Given the description of an element on the screen output the (x, y) to click on. 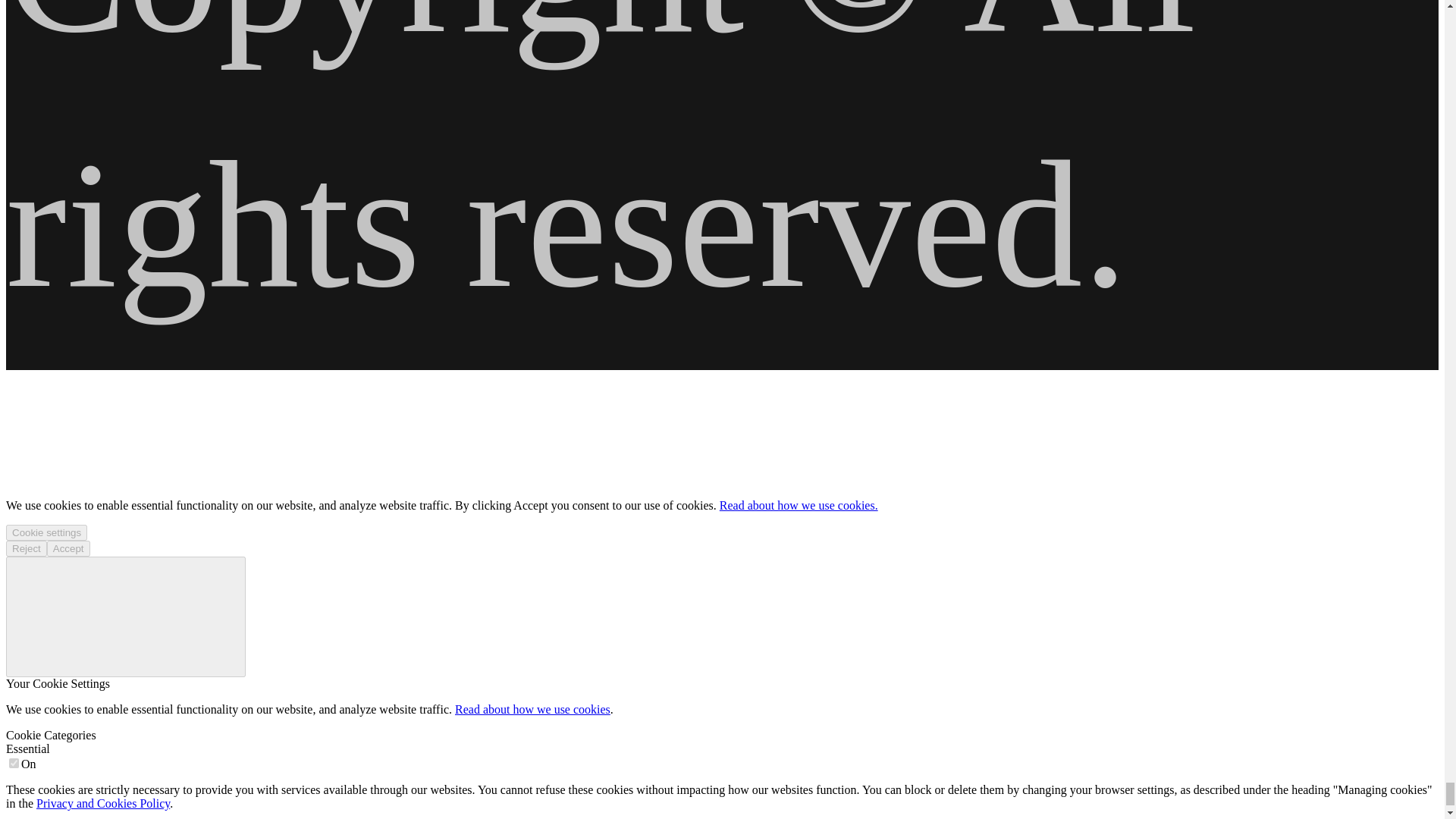
Privacy and Cookies Policy (103, 802)
on (13, 763)
Reject (25, 548)
Read about how we use cookies. (798, 504)
Accept (68, 548)
Read about how we use cookies (532, 708)
Cookie settings (46, 532)
